Given the description of an element on the screen output the (x, y) to click on. 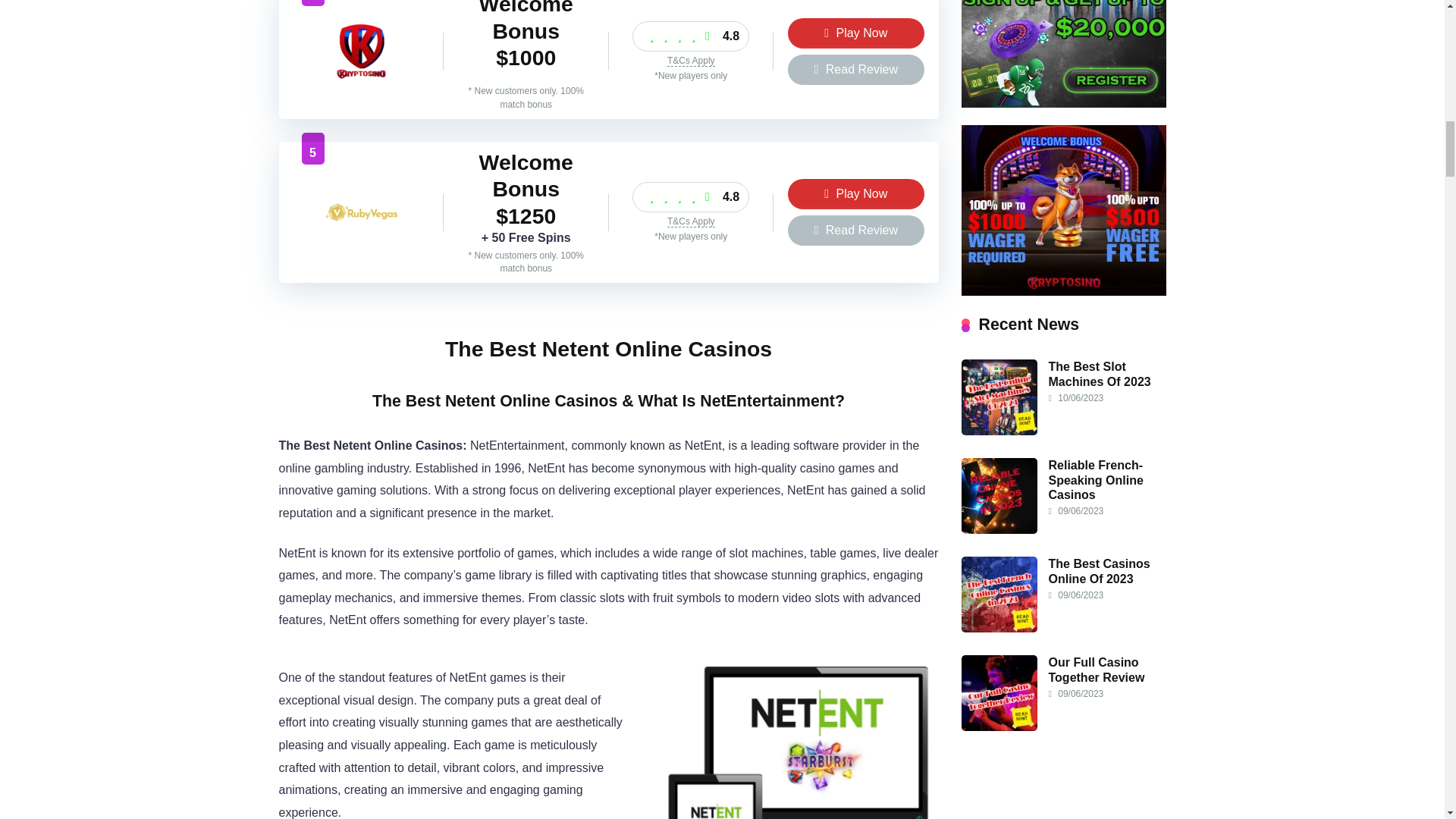
RubyVegas Casino Review (360, 237)
Read Review (855, 230)
Play Now (855, 194)
Play Now (855, 194)
Read Review (855, 69)
Read Review (855, 230)
Play Now (855, 33)
Read Review (855, 69)
Play Now (855, 33)
Kryptosino Casino Review (361, 77)
